Given the description of an element on the screen output the (x, y) to click on. 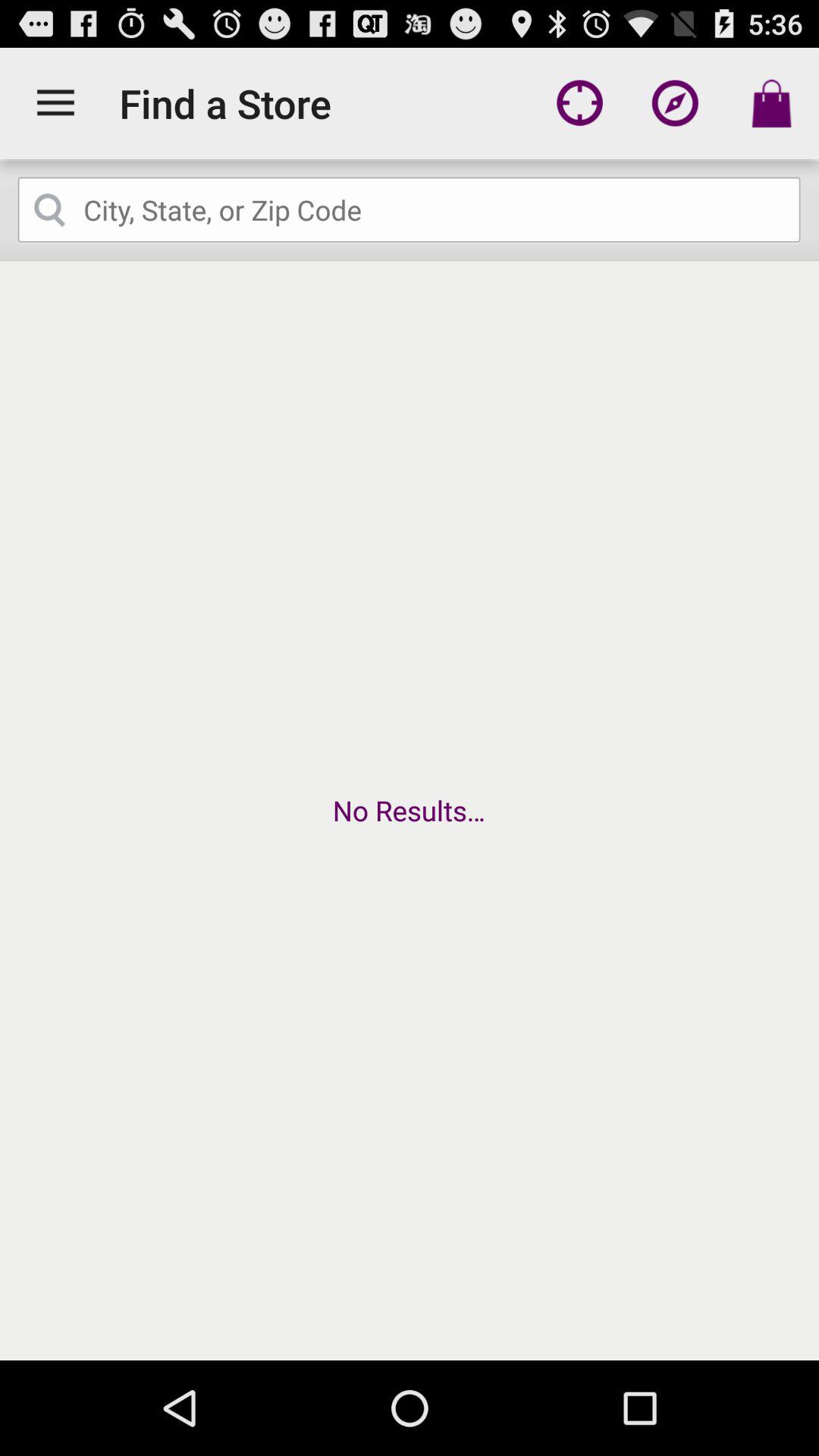
city state or zip code (409, 210)
